Given the description of an element on the screen output the (x, y) to click on. 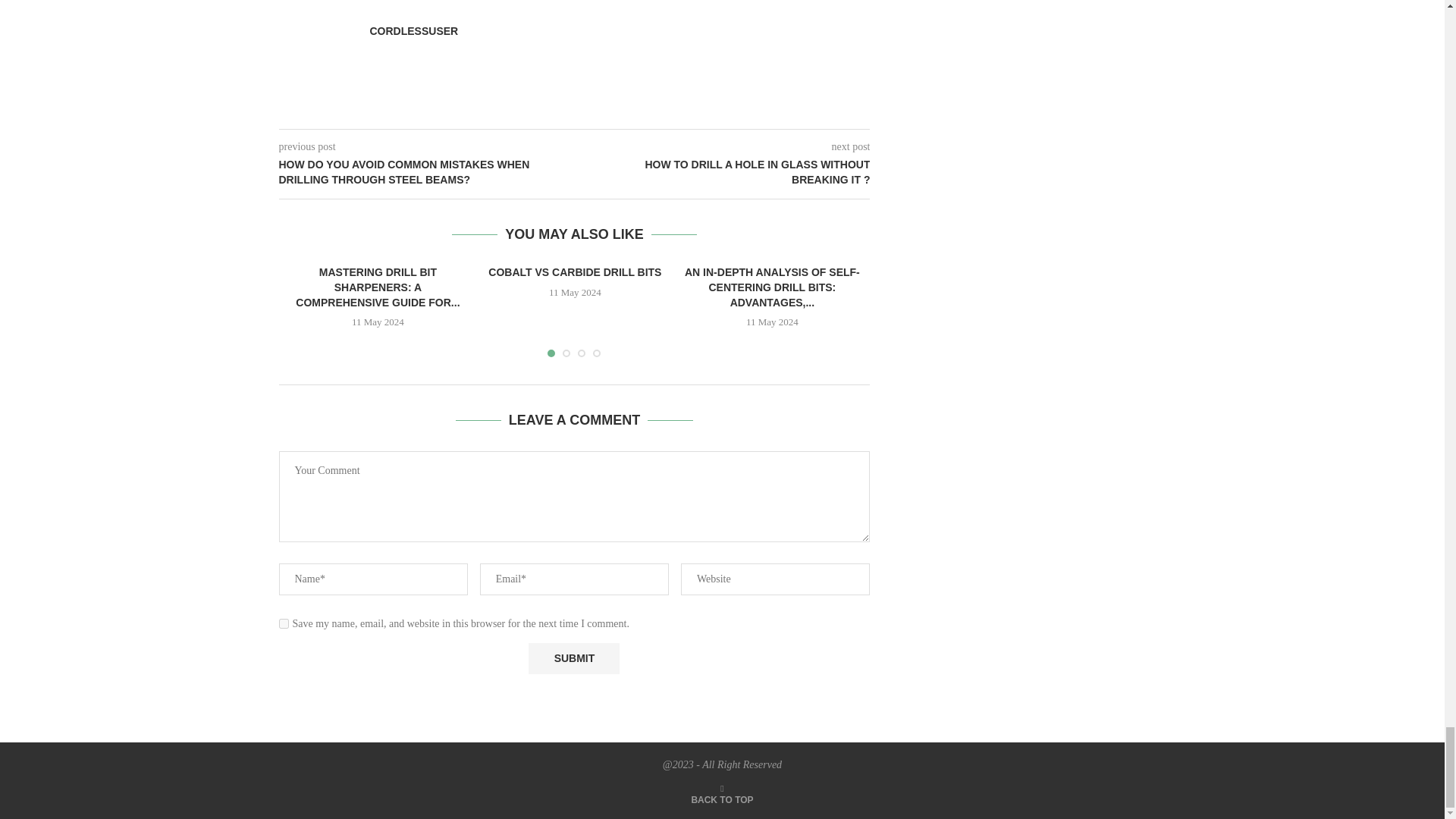
HOW TO DRILL A HOLE IN GLASS WITHOUT BREAKING IT ? (722, 172)
Submit (574, 658)
yes (283, 623)
MASTERING DRILL BIT SHARPENERS: A COMPREHENSIVE GUIDE FOR... (377, 286)
Author cordlessuser (413, 30)
COBALT VS CARBIDE DRILL BITS (574, 272)
CORDLESSUSER (413, 30)
